Given the description of an element on the screen output the (x, y) to click on. 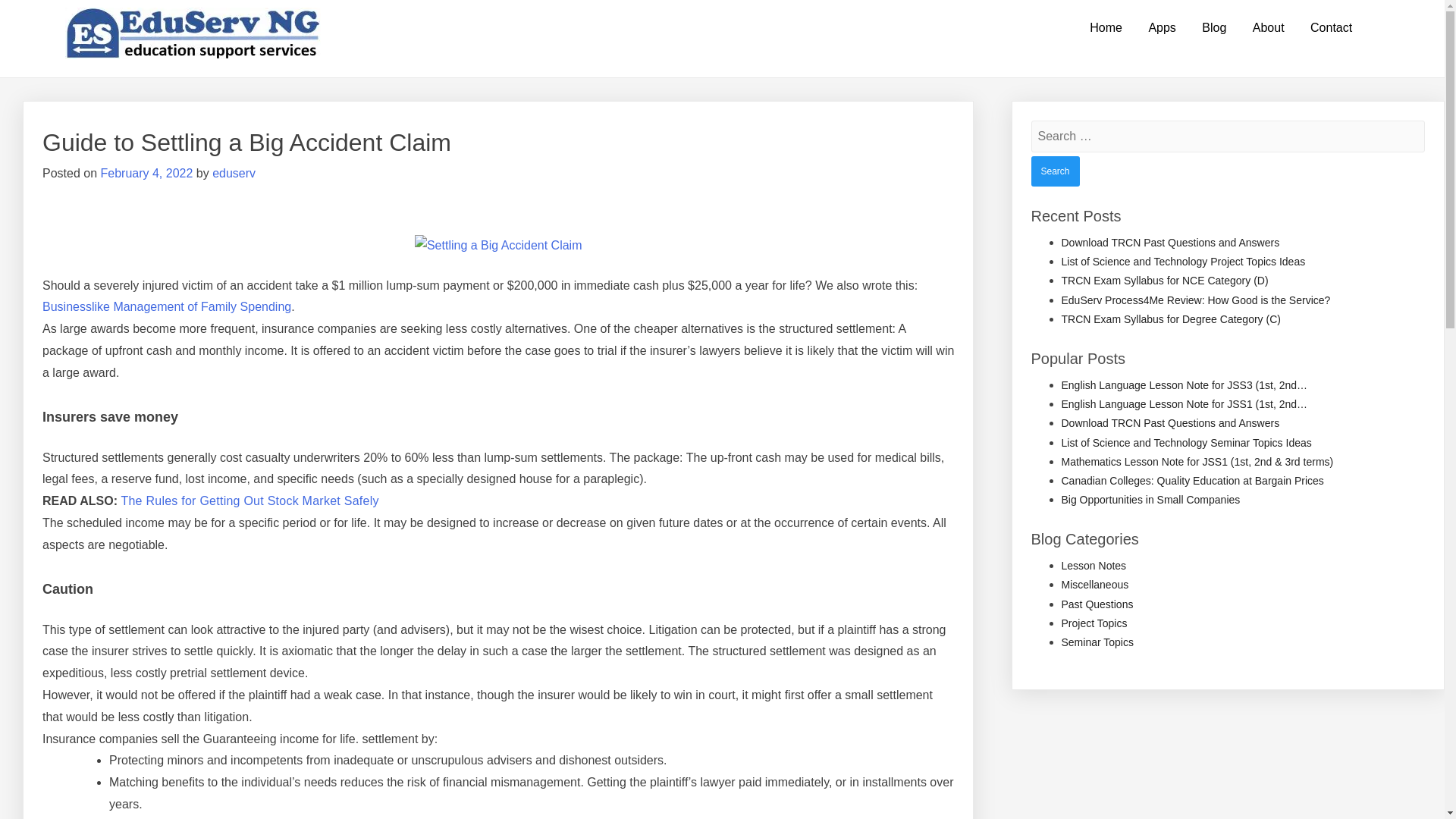
Businesslike Management of Family Spending (166, 306)
Download TRCN Past Questions and Answers (1170, 242)
Contact (1330, 28)
Miscellaneous (1095, 584)
Project Topics (1093, 623)
Past Questions (1097, 604)
Seminar Topics (1097, 642)
About (1268, 28)
List of Science and Technology Project Topics Ideas (1183, 261)
Home (1106, 28)
EduServ Process4Me Review: How Good is the Service? (1195, 300)
Lesson Notes (1093, 565)
Search (1055, 171)
Download TRCN Past Questions and Answers (1170, 422)
Search (1055, 171)
